Given the description of an element on the screen output the (x, y) to click on. 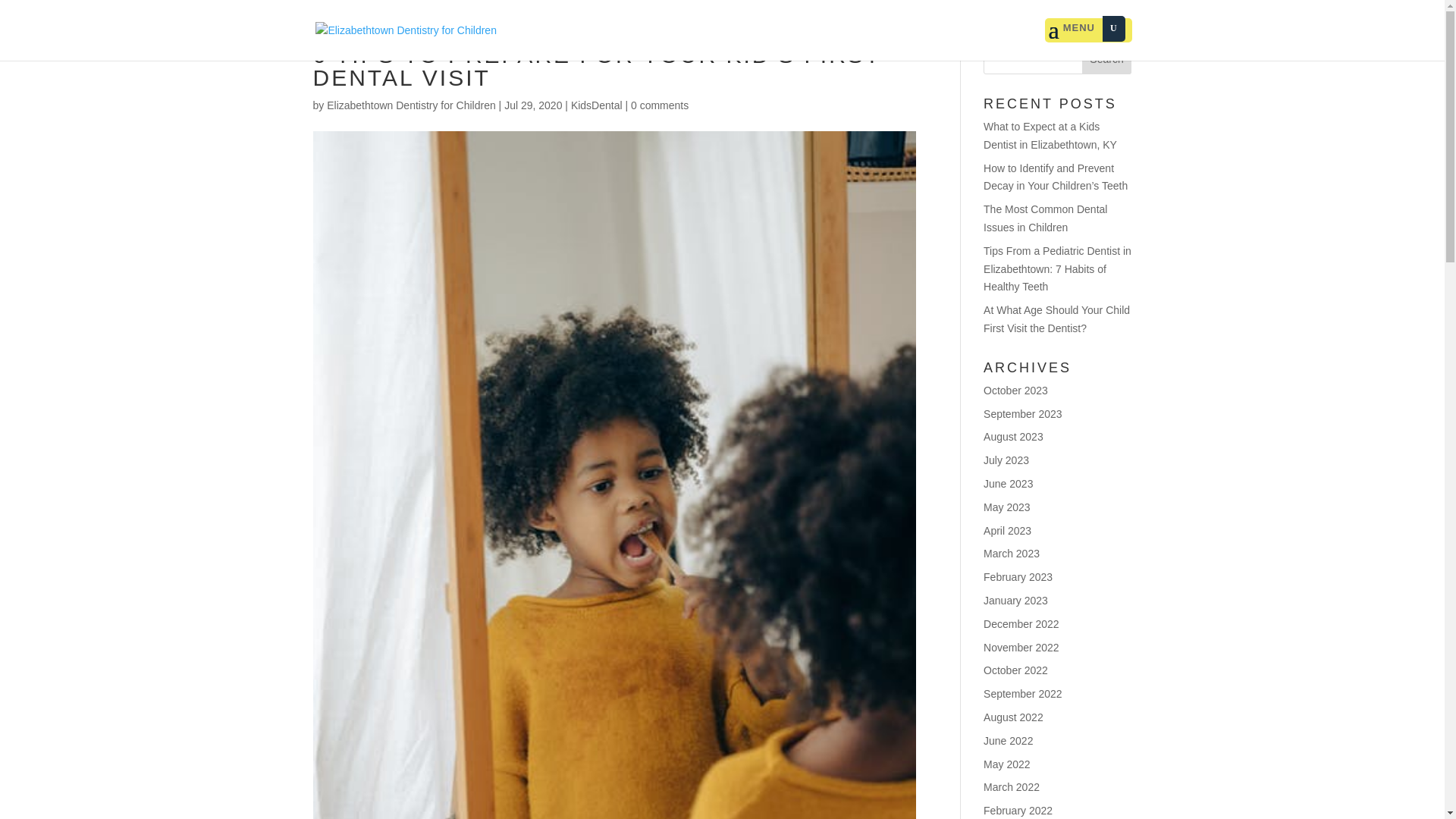
June 2022 (1008, 740)
August 2023 (1013, 436)
The Most Common Dental Issues in Children (1045, 218)
April 2023 (1007, 530)
January 2023 (1016, 600)
August 2022 (1013, 717)
March 2023 (1011, 553)
May 2023 (1006, 507)
December 2022 (1021, 623)
Search (1106, 59)
Search (1106, 59)
What to Expect at a Kids Dentist in Elizabethtown, KY (1050, 135)
Elizabethtown Dentistry for Children (411, 105)
September 2023 (1023, 413)
